Given the description of an element on the screen output the (x, y) to click on. 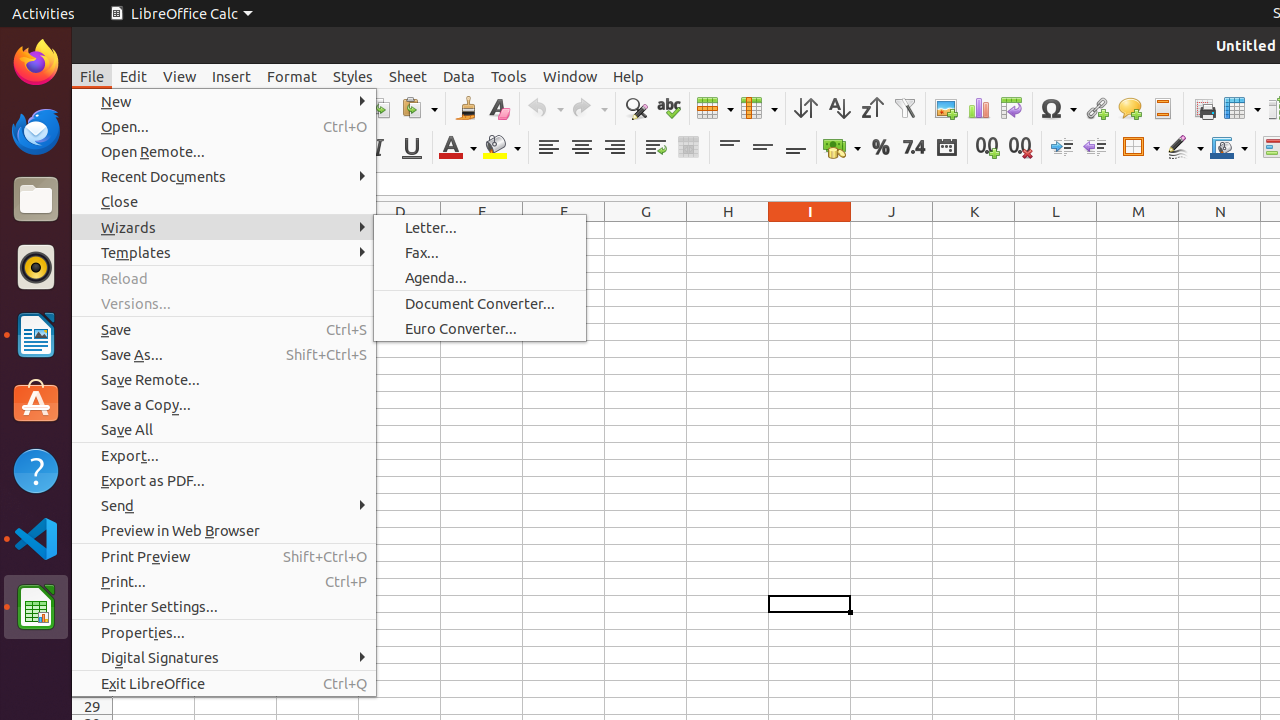
Save Element type: menu-item (224, 329)
K1 Element type: table-cell (974, 230)
Percent Element type: push-button (880, 147)
G1 Element type: table-cell (646, 230)
Save a Copy... Element type: menu-item (224, 404)
